Given the description of an element on the screen output the (x, y) to click on. 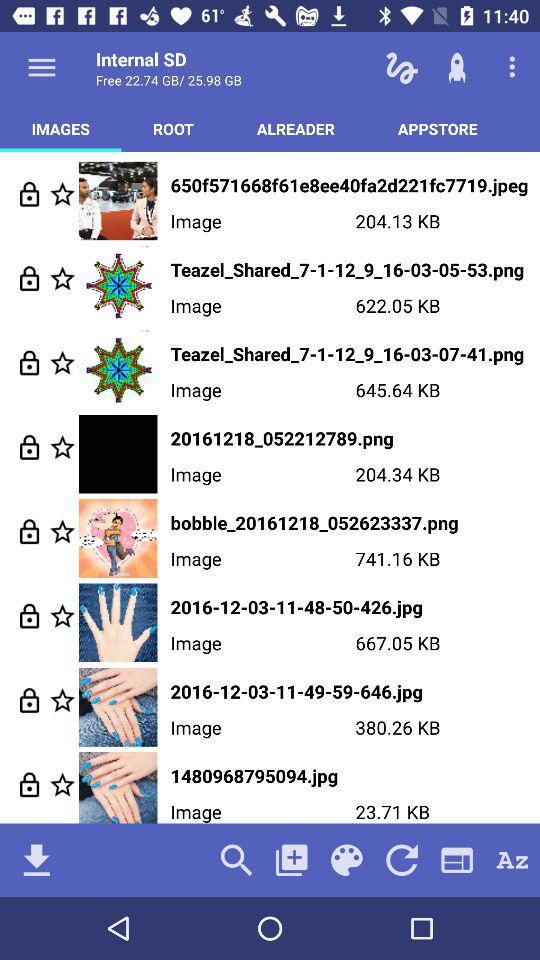
download (36, 860)
